Given the description of an element on the screen output the (x, y) to click on. 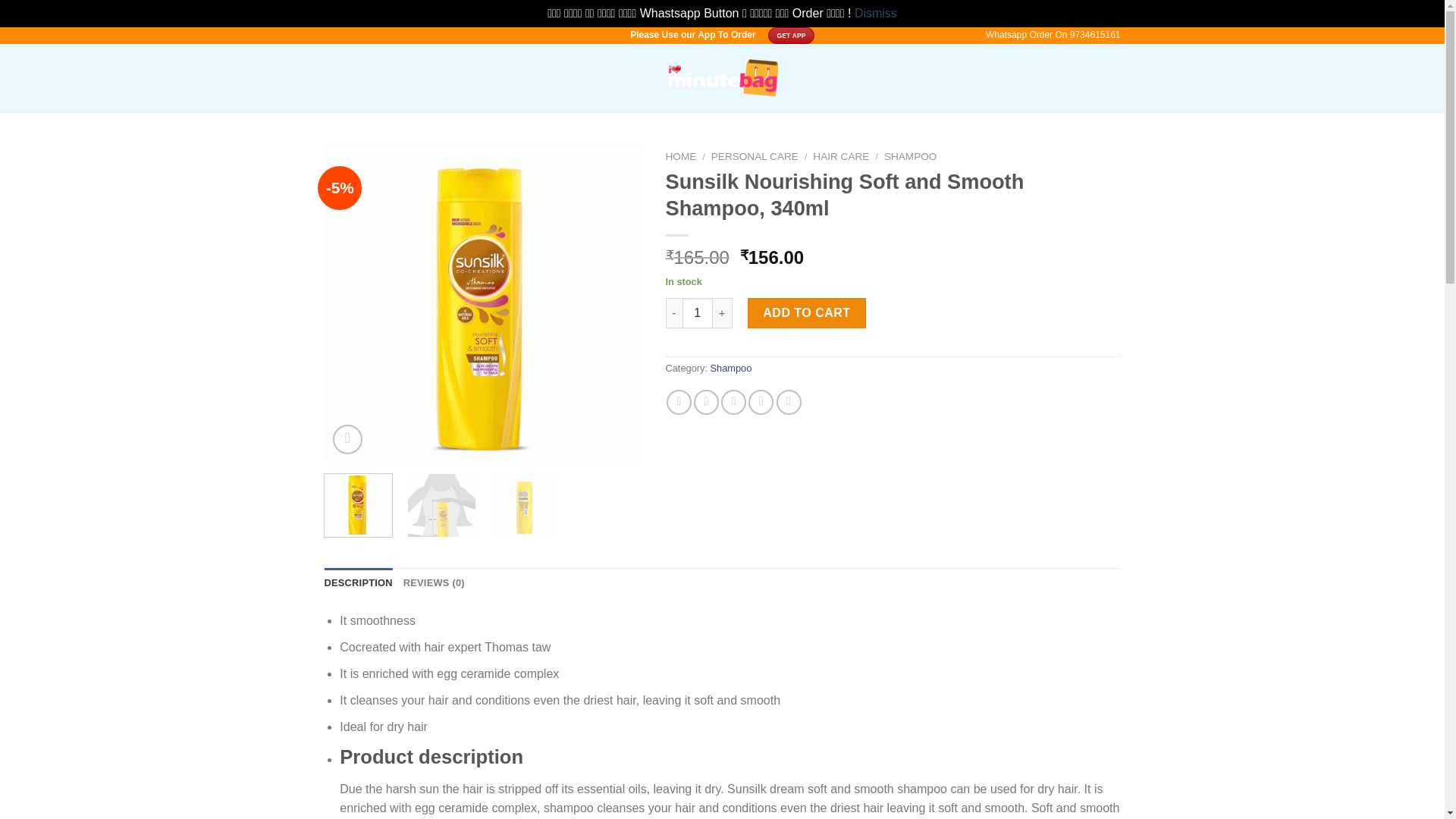
PERSONAL CARE (754, 156)
Qty (697, 313)
Shampoo (731, 367)
Dismiss (875, 12)
SHAMPOO (910, 156)
1 (697, 313)
1 (483, 302)
HOME (681, 156)
ADD TO CART (807, 313)
GET APP (790, 35)
